Given the description of an element on the screen output the (x, y) to click on. 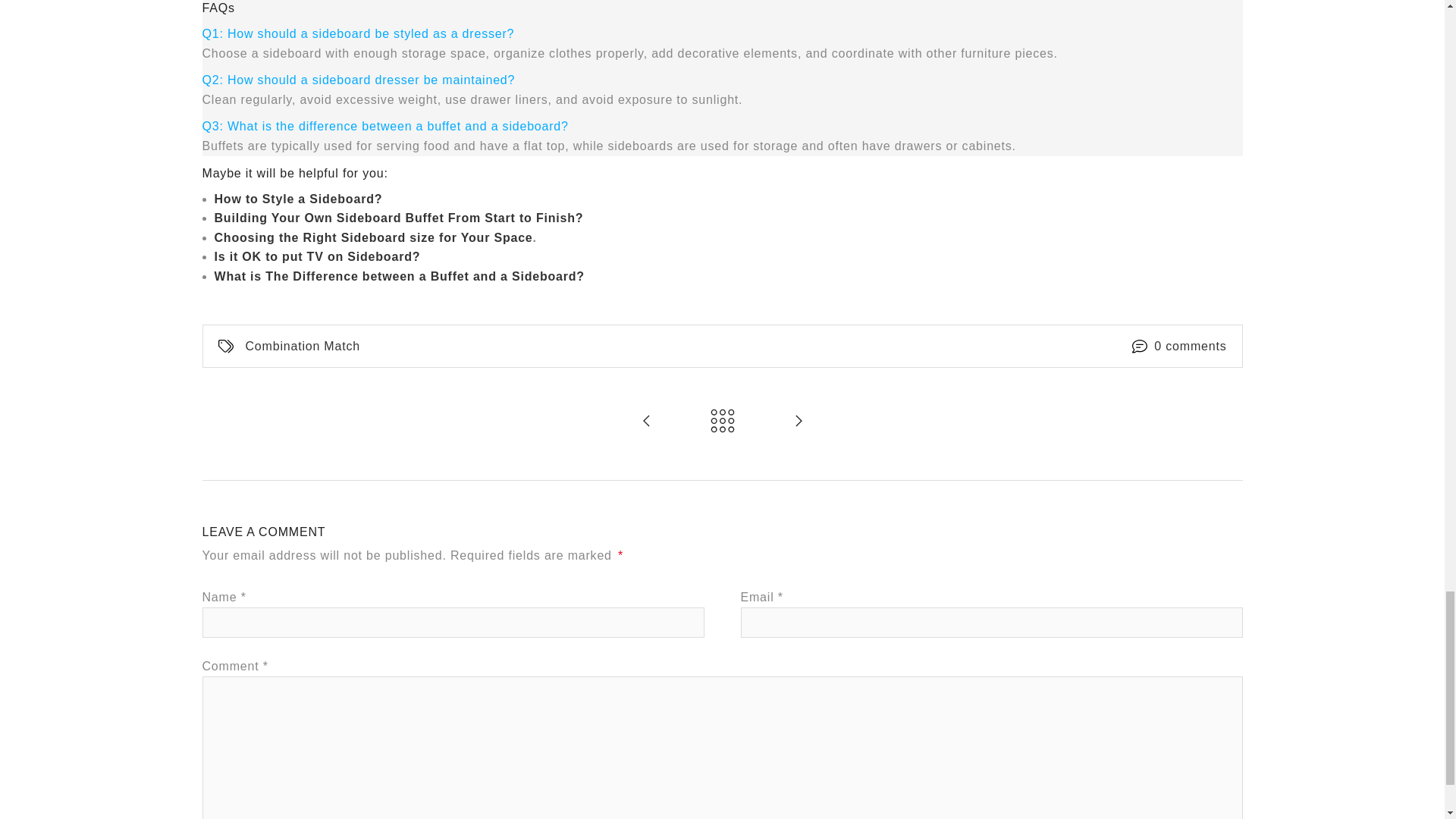
0 comments (1189, 346)
Back to News (722, 421)
Building Your Own Sideboard Buffet From Start to Finish? (398, 218)
Combination Match (302, 346)
How to Choose Accent Chair Color? (646, 421)
Choosing the Right Sideboard size for Your Space (373, 237)
What is The Difference between a Buffet and a Sideboard? (398, 276)
How to Style a Sideboard? (297, 199)
Is it OK to put TV on Sideboard? (317, 256)
